Given the description of an element on the screen output the (x, y) to click on. 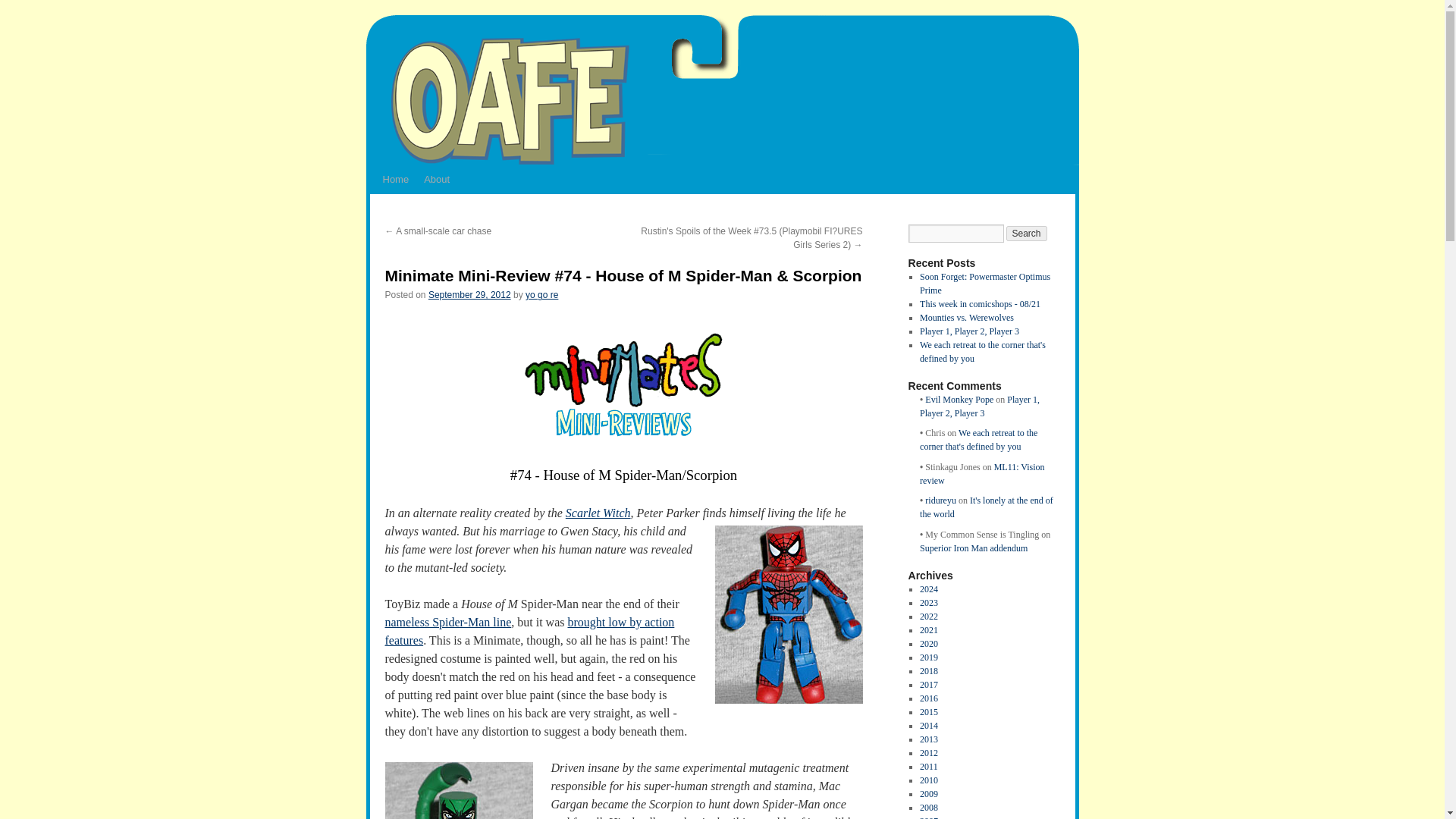
We each retreat to the corner that's defined by you (982, 351)
View all posts by yo go re (541, 294)
Player 1, Player 2, Player 3 (979, 405)
brought low by action features (530, 631)
Search (1026, 233)
Scorpion (458, 790)
Evil Monkey Pope (958, 398)
12:00 am (469, 294)
Home (395, 179)
nameless Spider-Man line (448, 621)
